Given the description of an element on the screen output the (x, y) to click on. 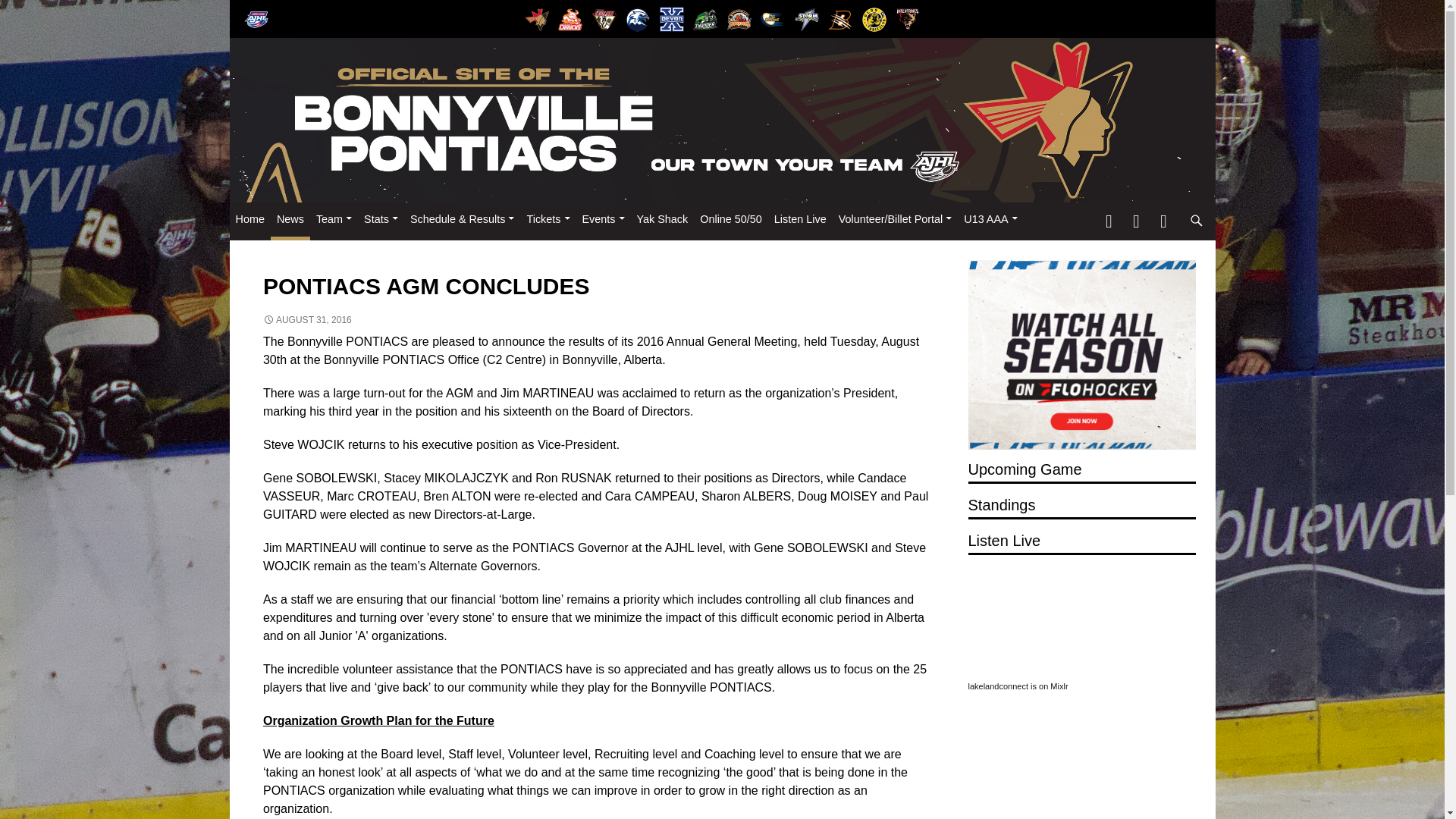
Team (334, 219)
Tickets (547, 219)
Bonnyville Pontiacs (536, 19)
News (290, 219)
Lloydminster Bobcats (840, 19)
Devon Xtreme (671, 18)
Drayton Valley Thunder (705, 19)
Drumheller Dragons (738, 19)
Stats (381, 219)
Home (248, 219)
Olds Grizzlys (874, 19)
PONTIACS AGM Concludes (1081, 354)
Camrose Kodiaks (604, 19)
Alberta Junior Hockey League (255, 19)
